Given the description of an element on the screen output the (x, y) to click on. 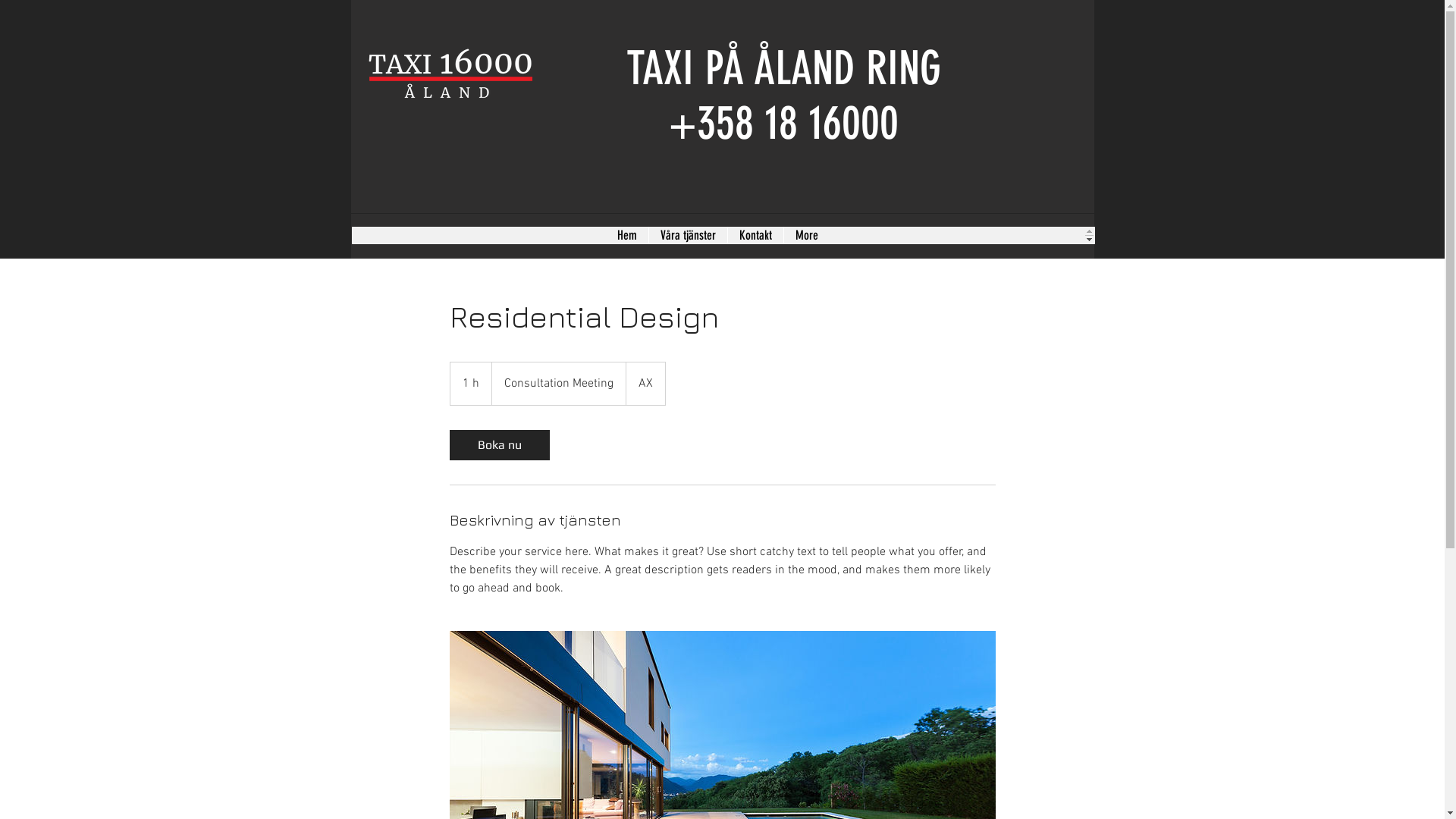
Kontakt Element type: text (754, 235)
Boka nu Element type: text (498, 444)
Hem Element type: text (626, 235)
